Given the description of an element on the screen output the (x, y) to click on. 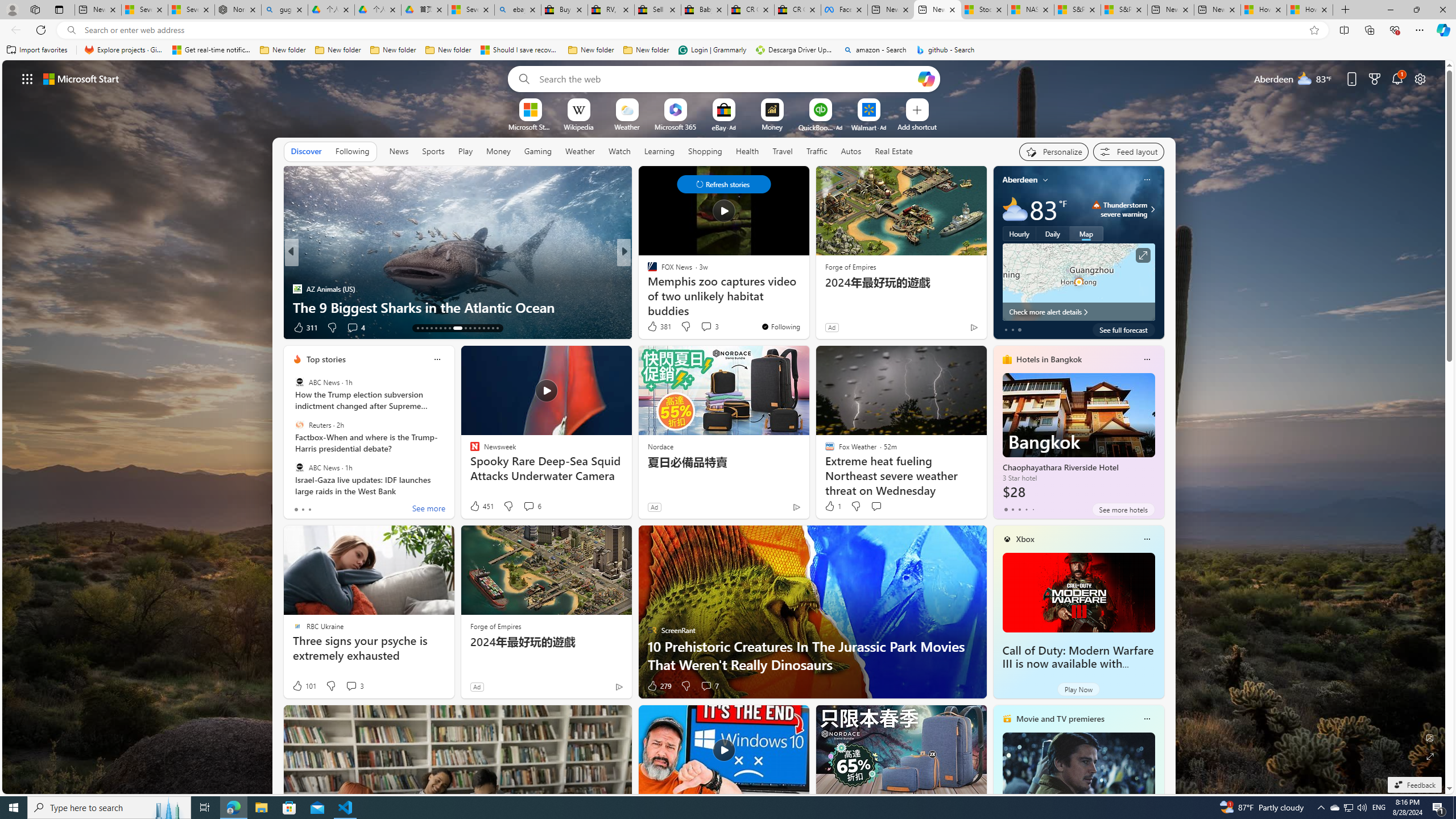
New Tab (1346, 9)
Close tab (1324, 9)
Shopping (705, 151)
View comments 2 Comment (702, 327)
Gaming (537, 151)
Weather (579, 151)
CNET (647, 288)
Travel (782, 151)
Login | Grammarly (712, 49)
New folder (646, 49)
Ad (476, 686)
Learning (658, 151)
View comments 6 Comment (532, 505)
